Given the description of an element on the screen output the (x, y) to click on. 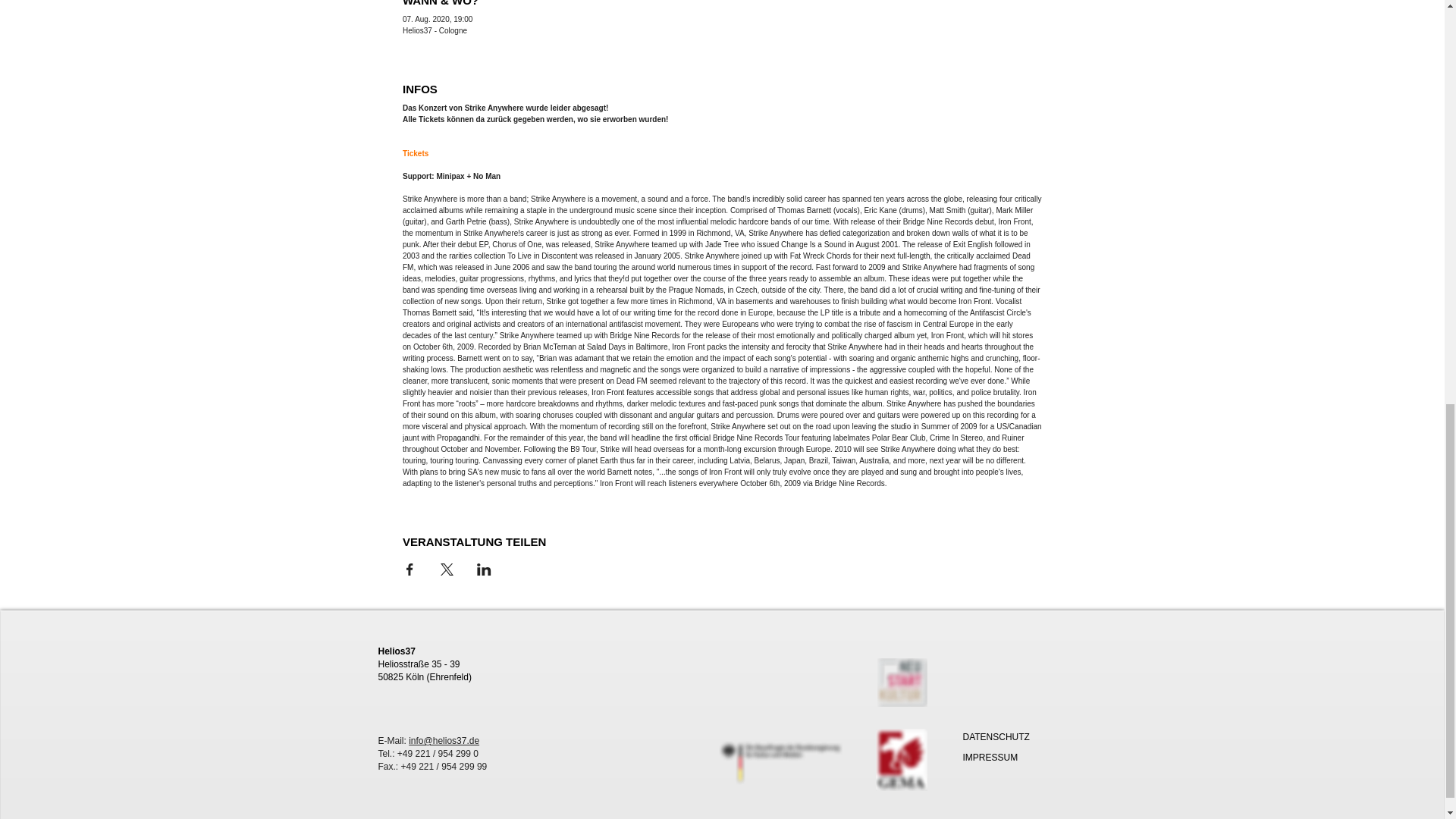
Tickets (415, 153)
IMPRESSUM (989, 757)
DATENSCHUTZ (995, 737)
